Given the description of an element on the screen output the (x, y) to click on. 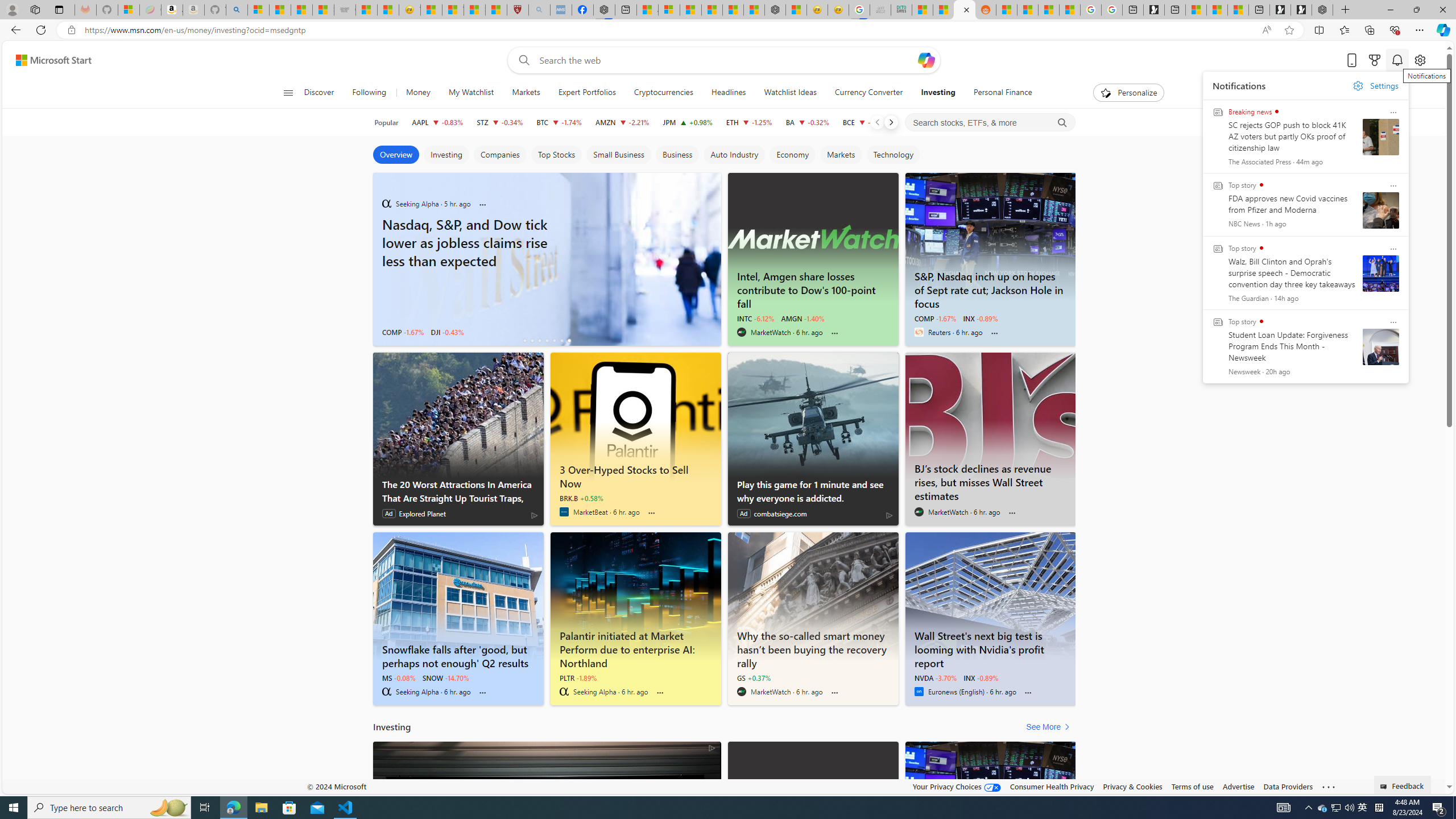
Investing (937, 92)
Cryptocurrencies (662, 92)
BCE BCE Inc decrease 34.55 -0.07 -0.20% (865, 122)
14 Common Myths Debunked By Scientific Facts (732, 9)
Privacy & Cookies (1131, 785)
